Given the description of an element on the screen output the (x, y) to click on. 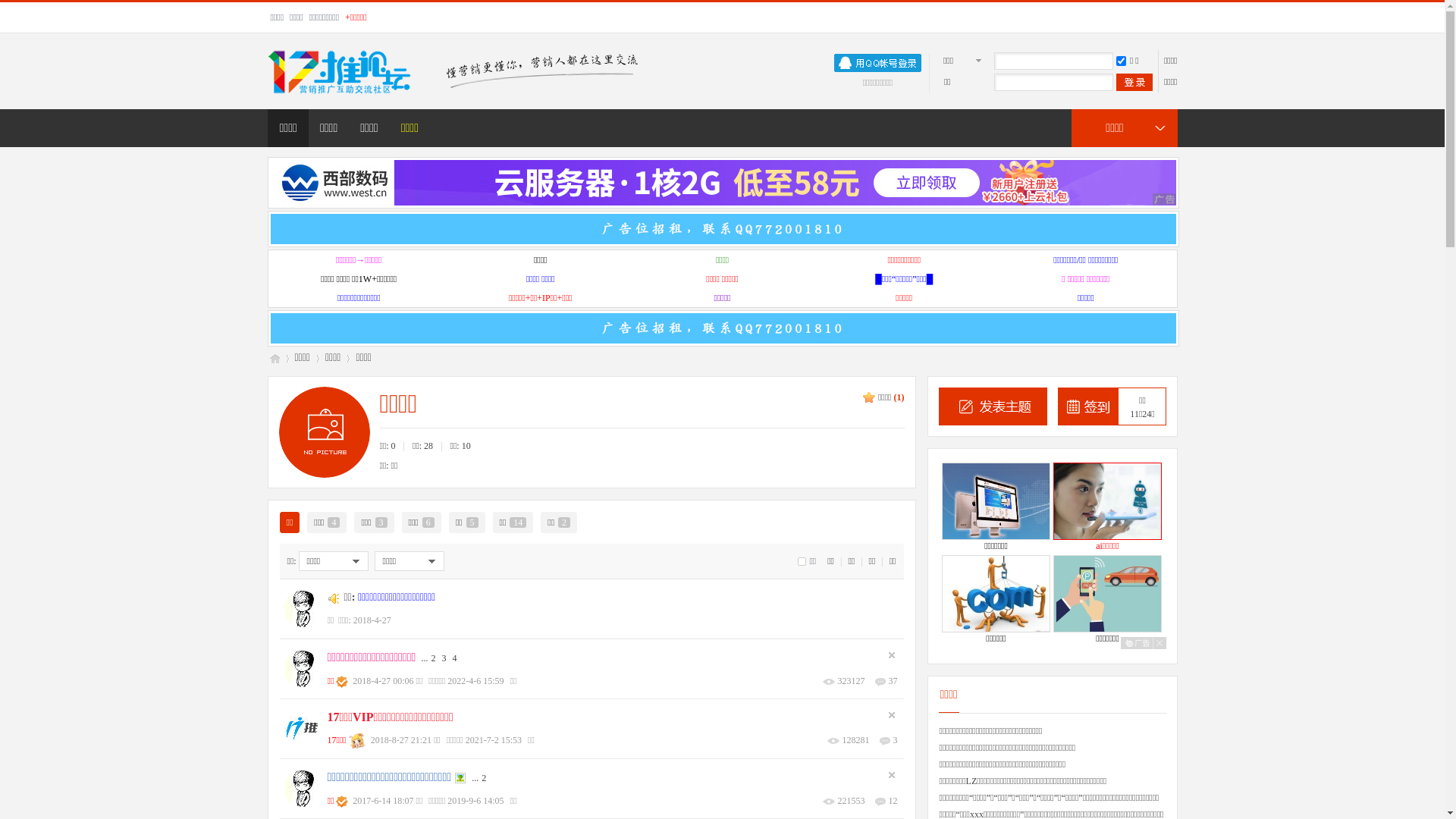
2019-9-6 14:05 Element type: text (475, 800)
     Element type: text (1134, 81)
2021-7-2 15:53 Element type: text (493, 739)
12 Element type: text (892, 800)
4 Element type: text (453, 658)
37 Element type: text (892, 680)
3 Element type: text (443, 658)
2 Element type: text (432, 658)
2 Element type: text (483, 777)
3 Element type: text (895, 739)
2022-4-6 15:59 Element type: text (475, 680)
